Given the description of an element on the screen output the (x, y) to click on. 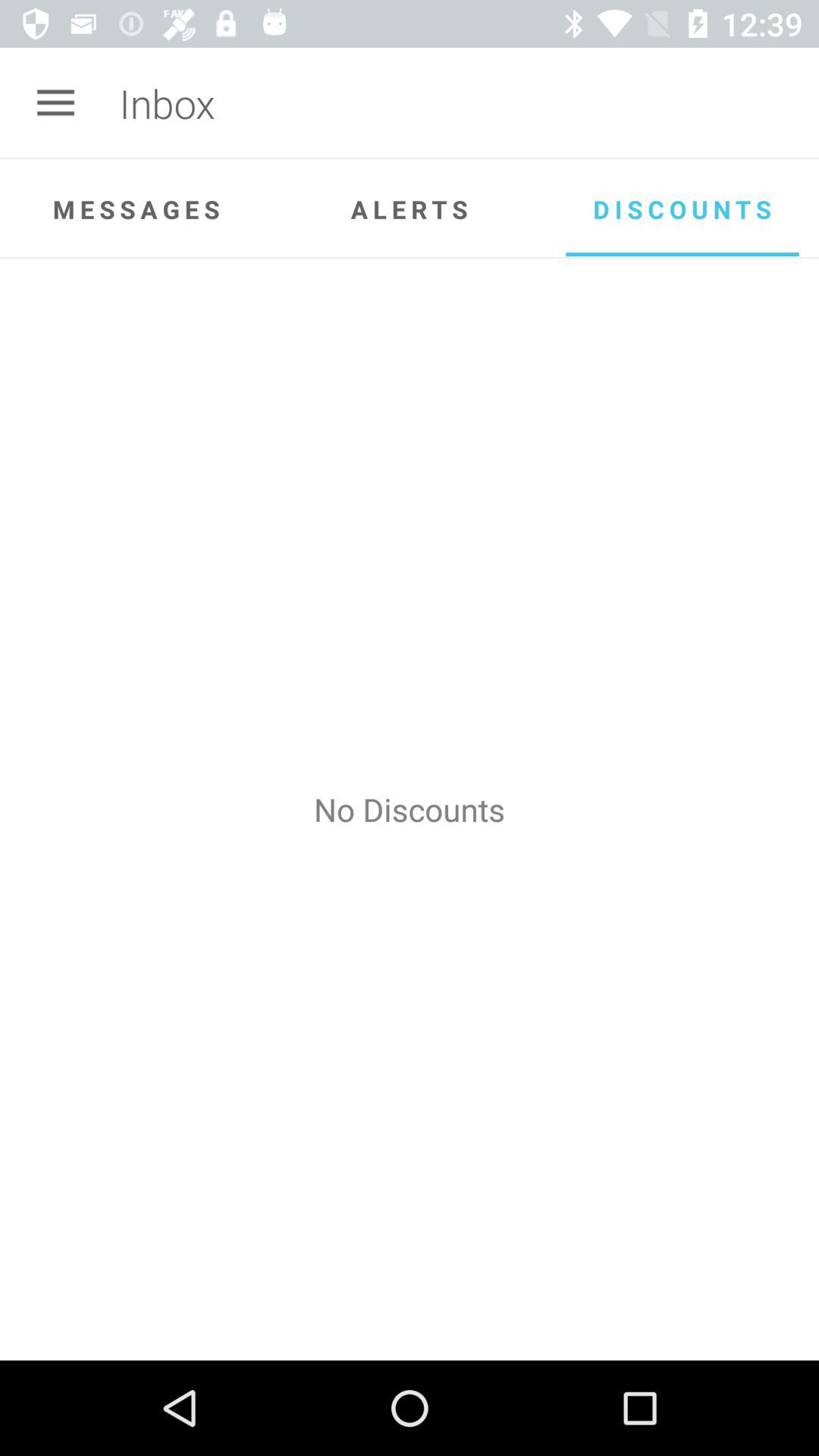
choose the item to the left of inbox (55, 103)
